Given the description of an element on the screen output the (x, y) to click on. 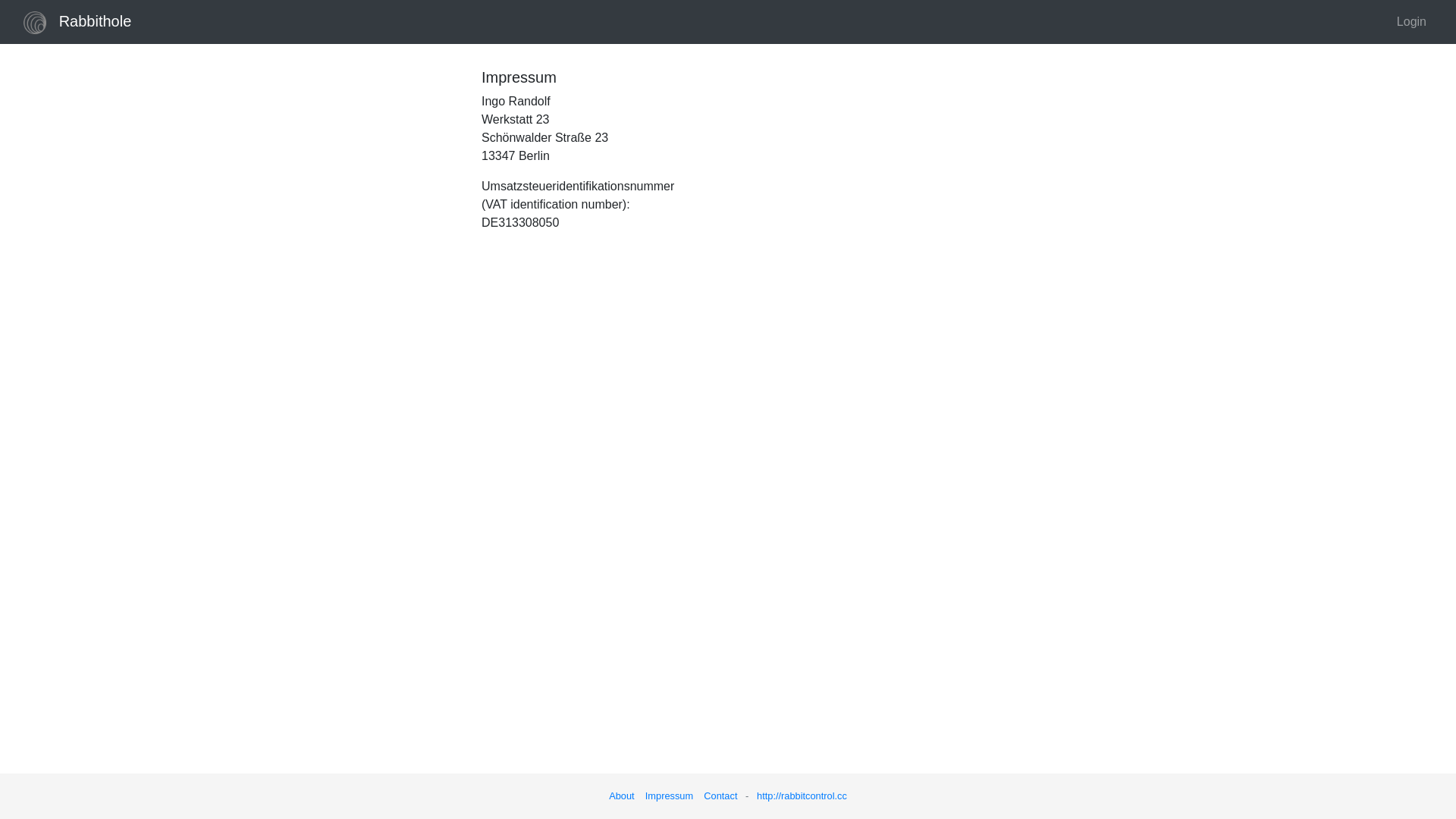
Contact Element type: text (720, 795)
About Element type: text (620, 795)
Impressum Element type: text (669, 795)
Login Element type: text (1411, 21)
http://rabbitcontrol.cc Element type: text (801, 795)
  Rabbithole Element type: text (77, 21)
